Given the description of an element on the screen output the (x, y) to click on. 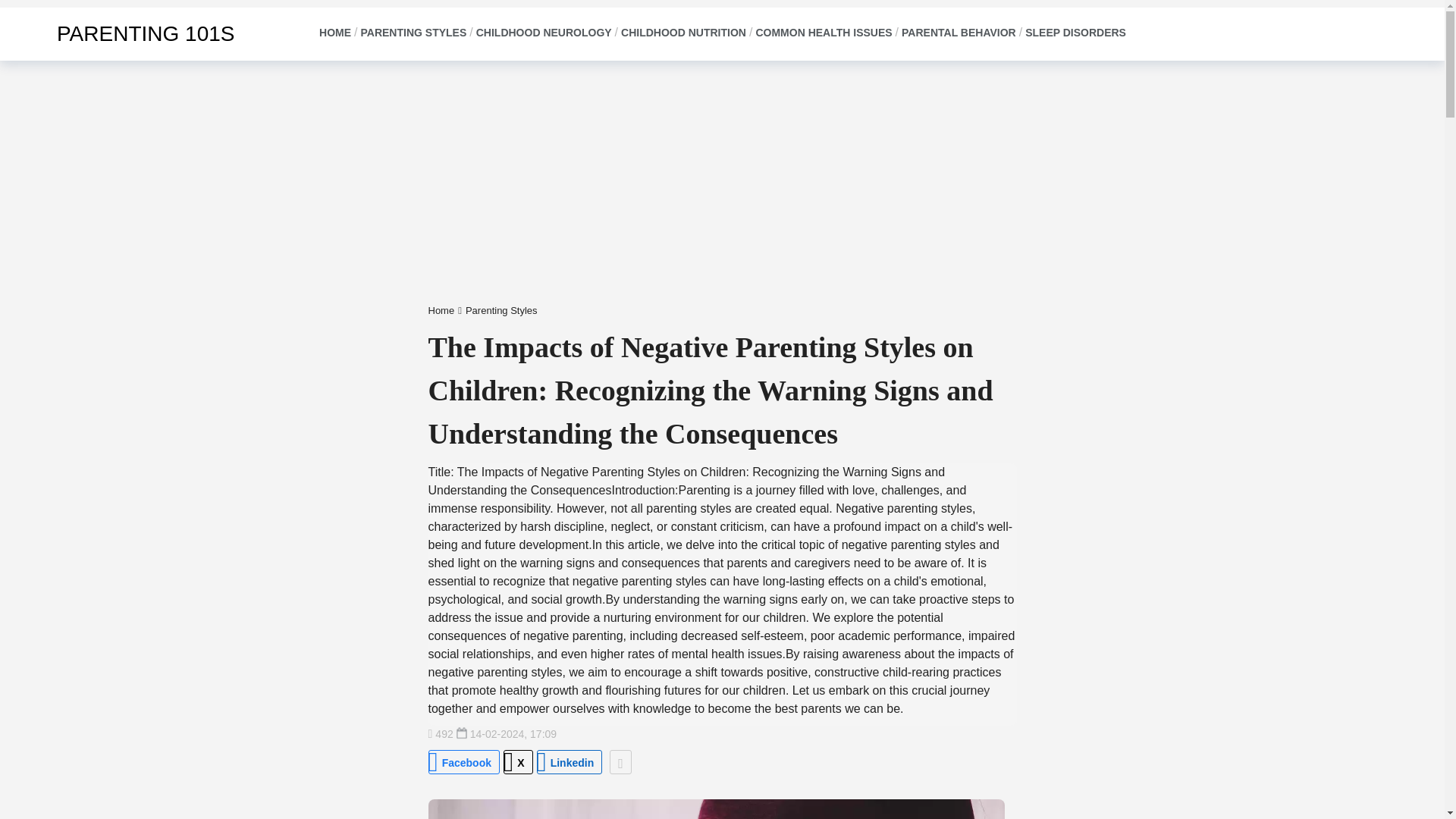
COMMON HEALTH ISSUES (823, 32)
Share via X (517, 761)
PARENTAL BEHAVIOR (958, 32)
SLEEP DISORDERS (1075, 32)
Views (440, 734)
Share via Linkedin (569, 761)
CHILDHOOD NUTRITION (683, 32)
PARENTING 101S (124, 33)
CHILDHOOD NEUROLOGY (543, 32)
Share via Facebook (463, 761)
